Given the description of an element on the screen output the (x, y) to click on. 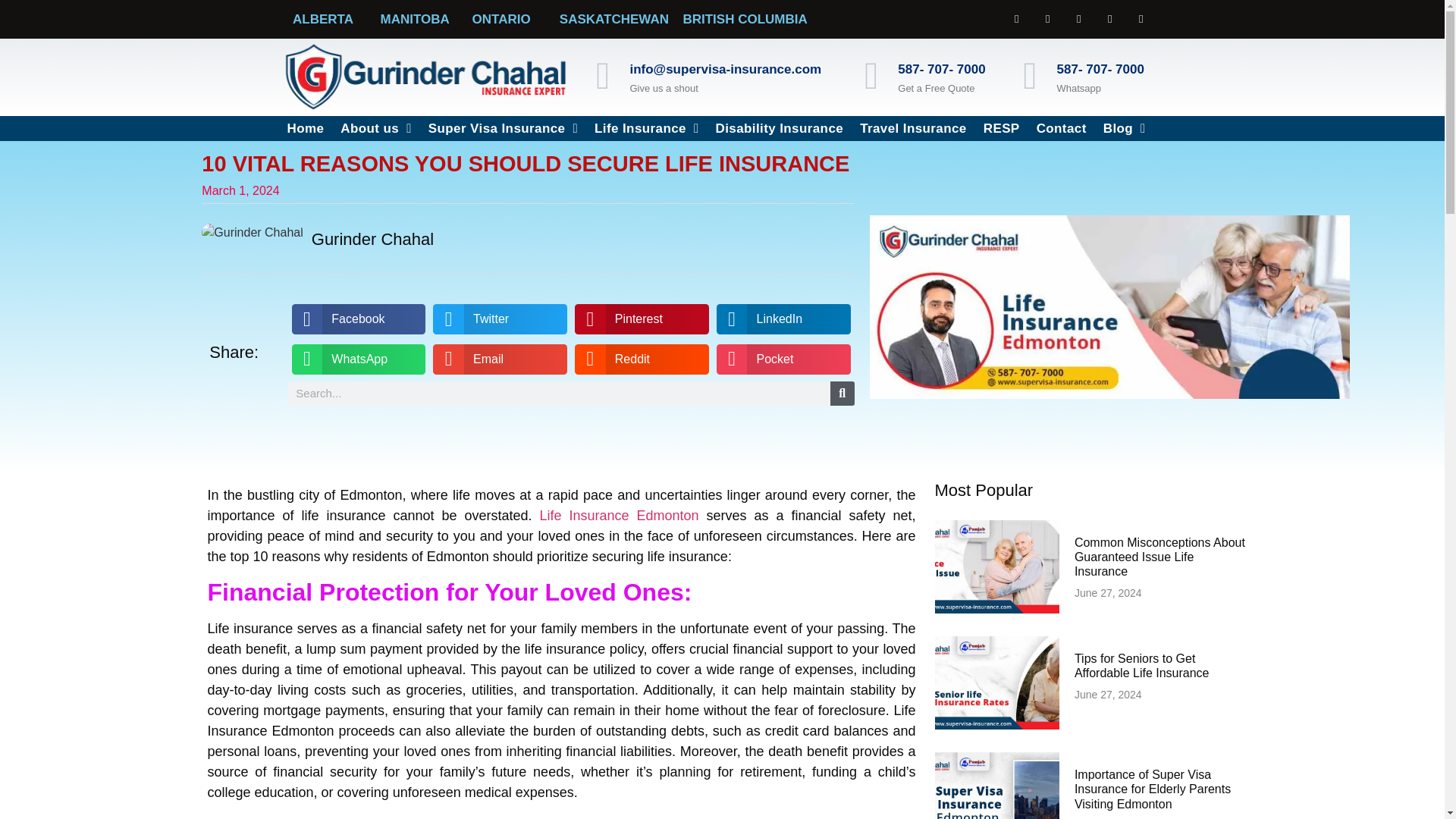
Super Visa Insurance (503, 128)
Life Insurance (646, 128)
ALBERTA (322, 19)
About us (375, 128)
Home (306, 128)
Disability Insurance (778, 128)
ONTARIO (501, 19)
Blog (1124, 128)
RESP (1001, 128)
BRITISH COLUMBIA (744, 19)
587- 707- 7000 (941, 69)
Contact (1060, 128)
SASKATCHEWAN (613, 19)
587- 707- 7000 (1100, 69)
Travel Insurance (913, 128)
